Given the description of an element on the screen output the (x, y) to click on. 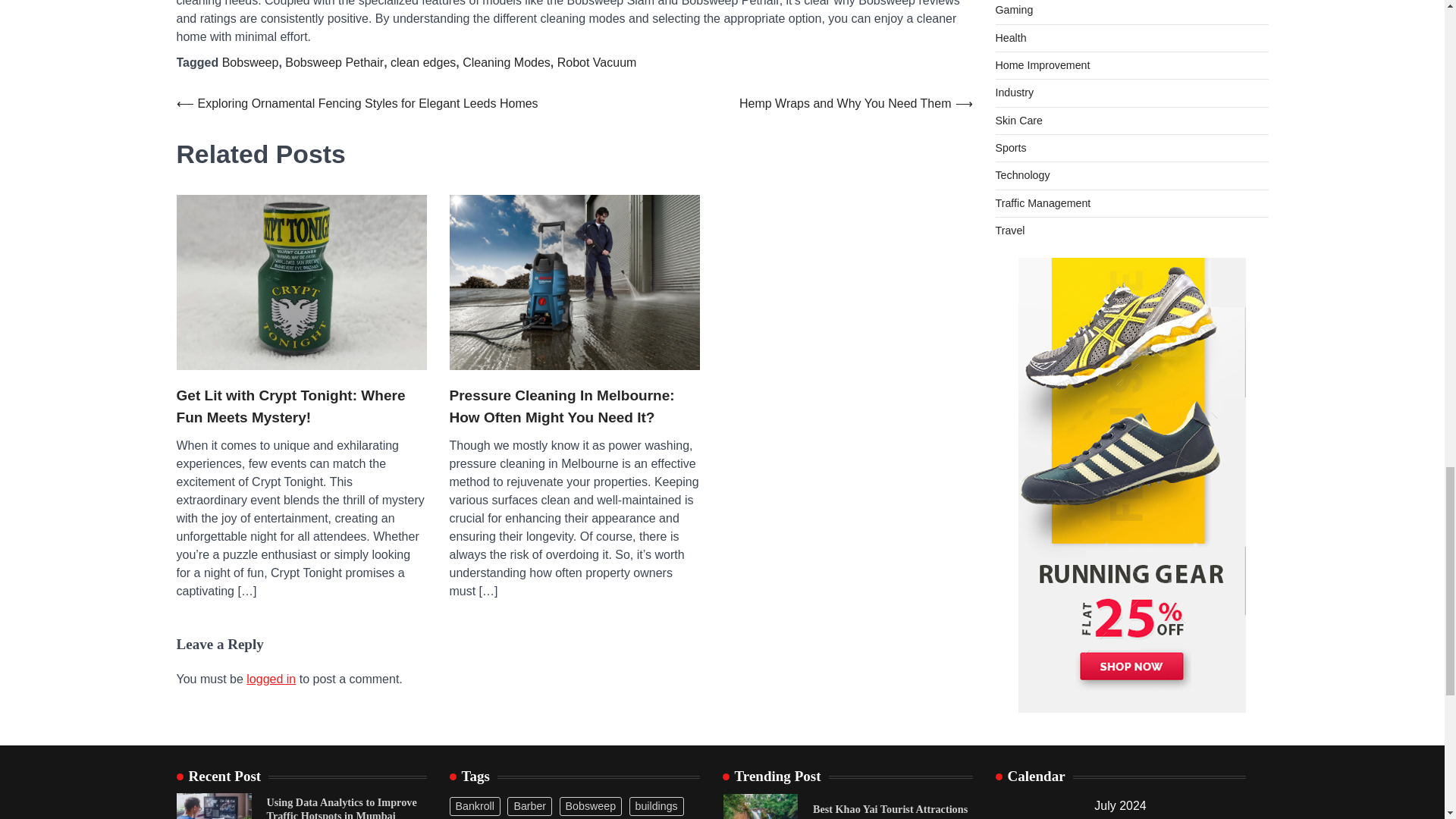
Saturday (1191, 817)
Wednesday (1084, 817)
Monday (1012, 817)
logged in (270, 678)
Sunday (1226, 817)
Pressure Cleaning In Melbourne: How Often Might You Need It? (573, 406)
Robot Vacuum (597, 62)
Cleaning Modes (506, 62)
clean edges (422, 62)
Get Lit with Crypt Tonight: Where Fun Meets Mystery! (301, 406)
Thursday (1120, 817)
Bobsweep Pethair (334, 62)
Friday (1155, 817)
Bobsweep (250, 62)
Tuesday (1048, 817)
